Given the description of an element on the screen output the (x, y) to click on. 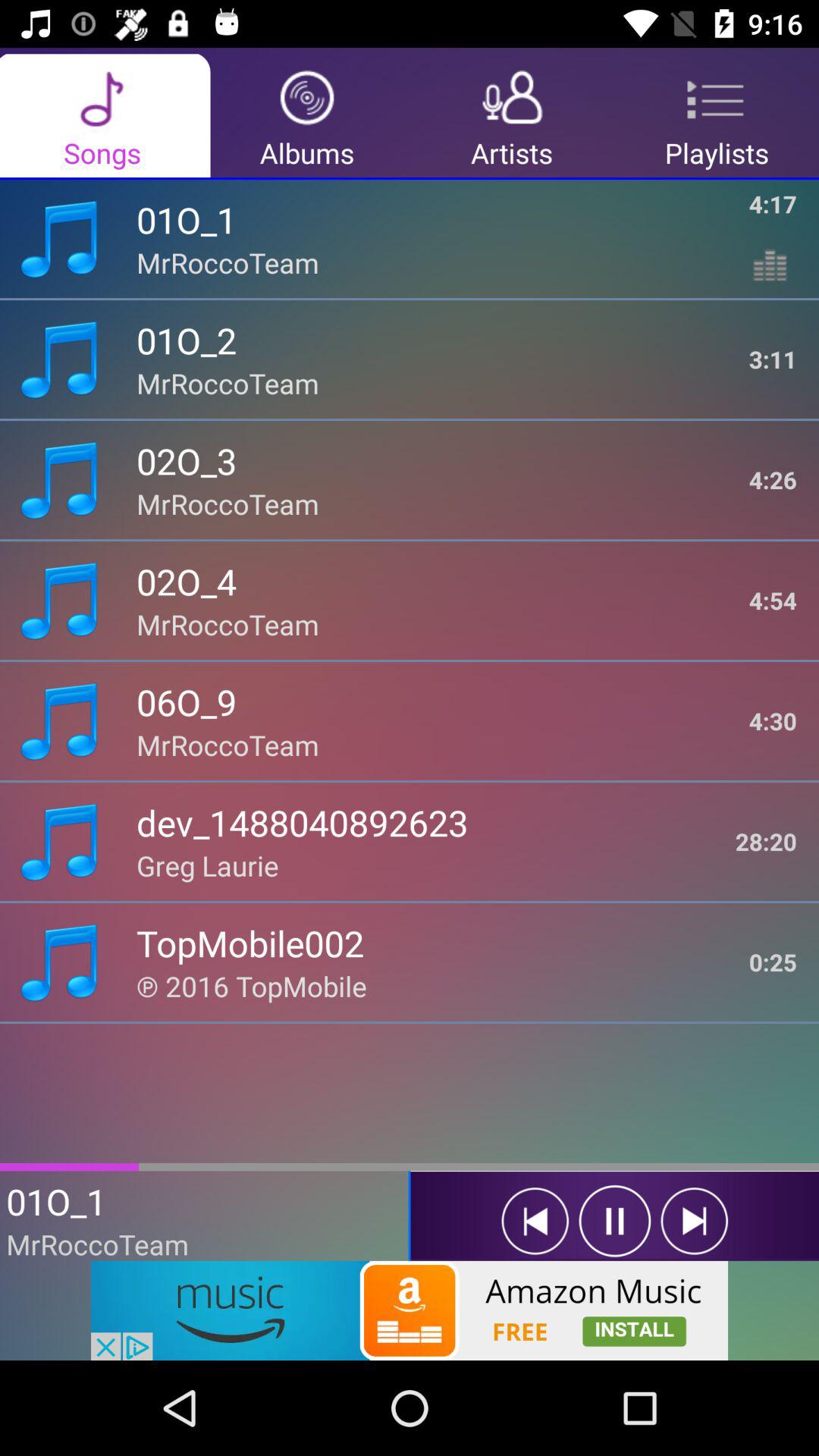
pause the song (614, 1220)
